Given the description of an element on the screen output the (x, y) to click on. 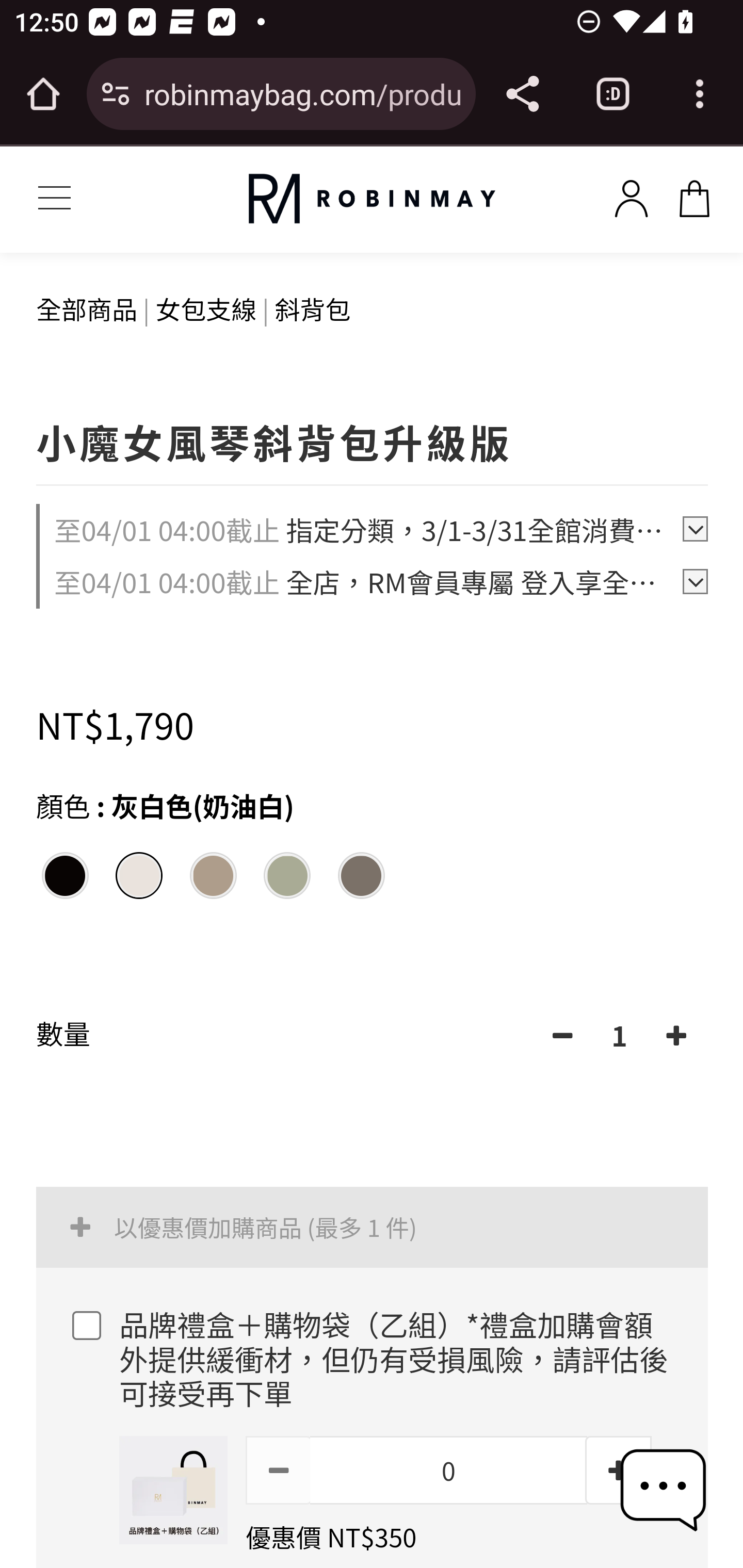
Open the home page (43, 93)
Connection is secure (115, 93)
Share (522, 93)
Switch or close tabs (612, 93)
Customize and control Google Chrome (699, 93)
original (371, 199)
x100 (631, 195)
x100 (694, 195)
全部商品 (87, 308)
女包支線 (206, 308)
斜背包 (313, 308)
 (563, 1035)
1 (619, 1035)
 (675, 1035)
 (278, 1469)
0 (448, 1469)
